Given the description of an element on the screen output the (x, y) to click on. 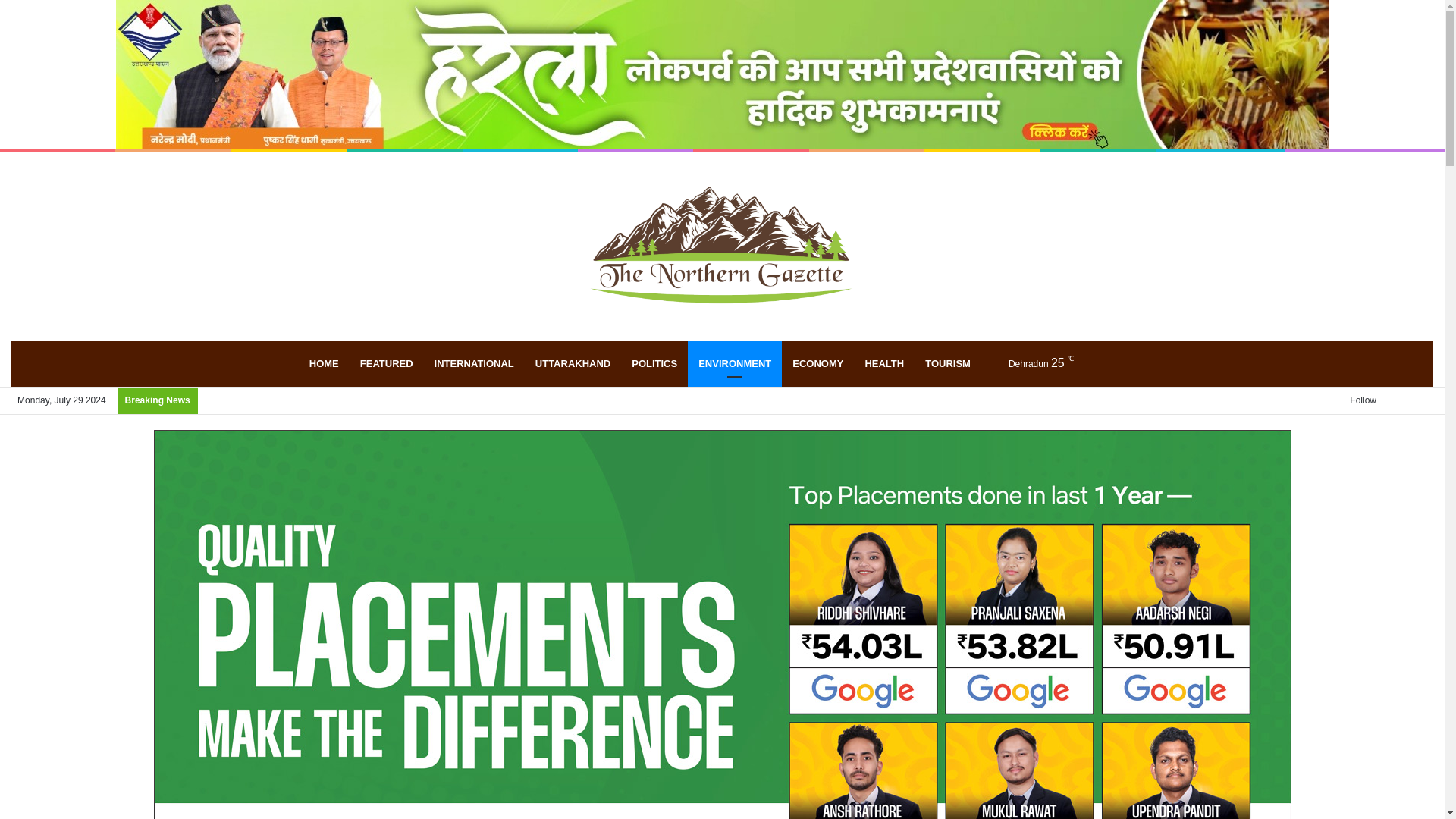
Scattered Clouds (1027, 363)
Search for (1133, 363)
Follow (1358, 400)
Random Article (1398, 400)
ECONOMY (817, 363)
Random Article (1088, 363)
TOURISM (947, 363)
INTERNATIONAL (473, 363)
POLITICS (654, 363)
Random Article (1088, 363)
HEALTH (883, 363)
Switch skin (1111, 363)
UTTARAKHAND (572, 363)
Switch skin (1111, 363)
HOME (323, 363)
